Given the description of an element on the screen output the (x, y) to click on. 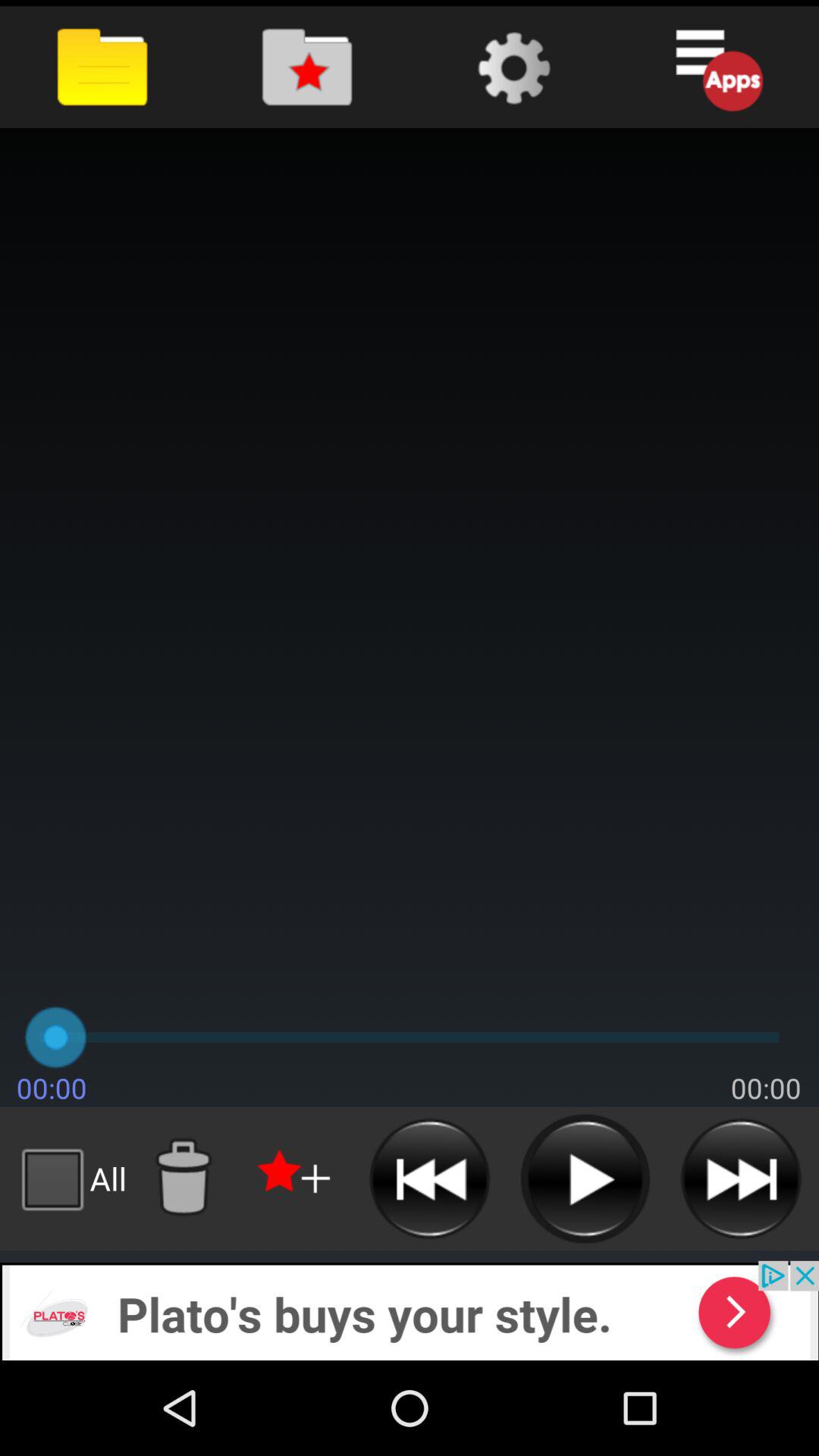
put in trash (183, 1178)
